Given the description of an element on the screen output the (x, y) to click on. 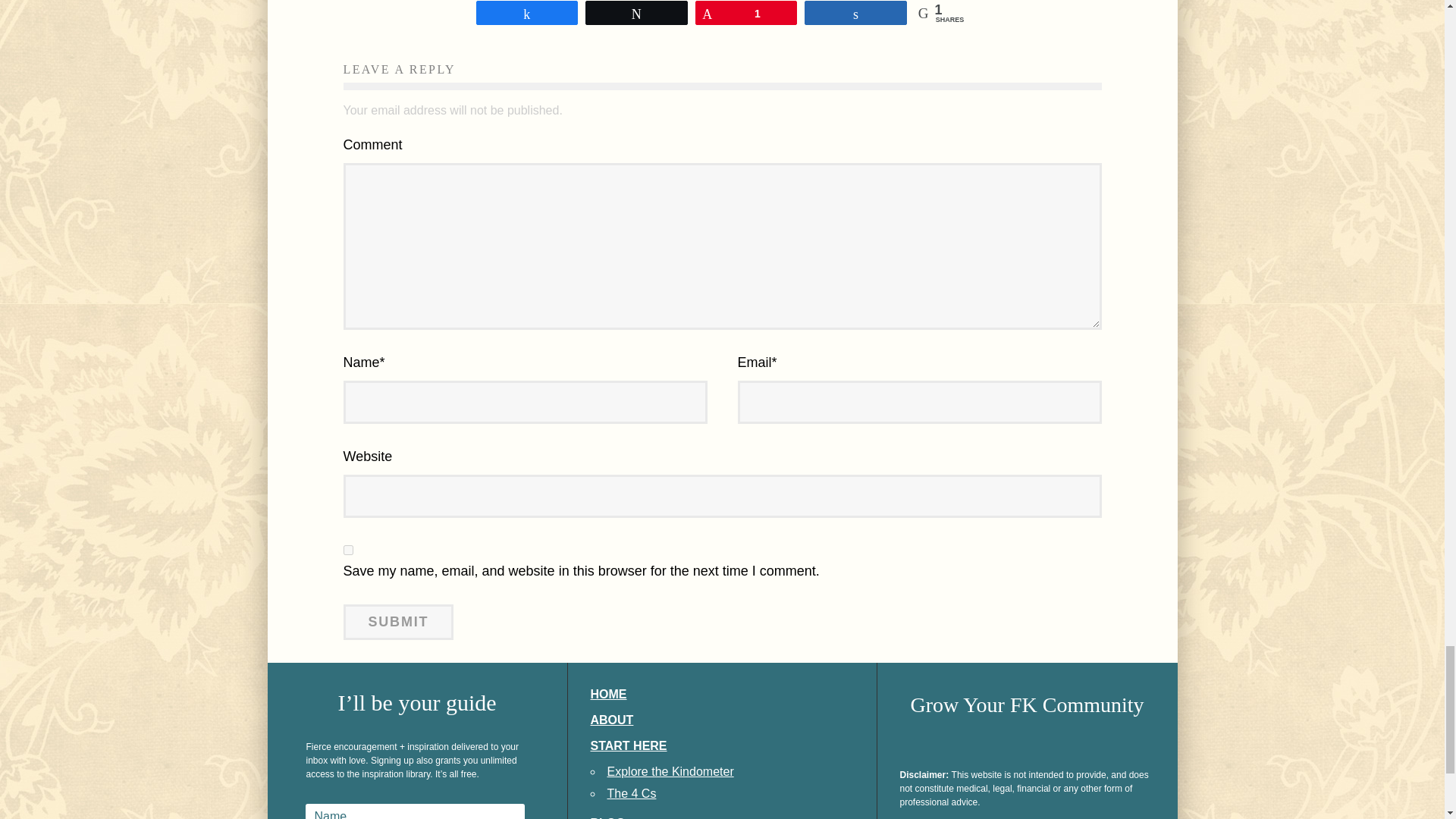
yes (347, 550)
Submit (397, 621)
Name (414, 811)
